Given the description of an element on the screen output the (x, y) to click on. 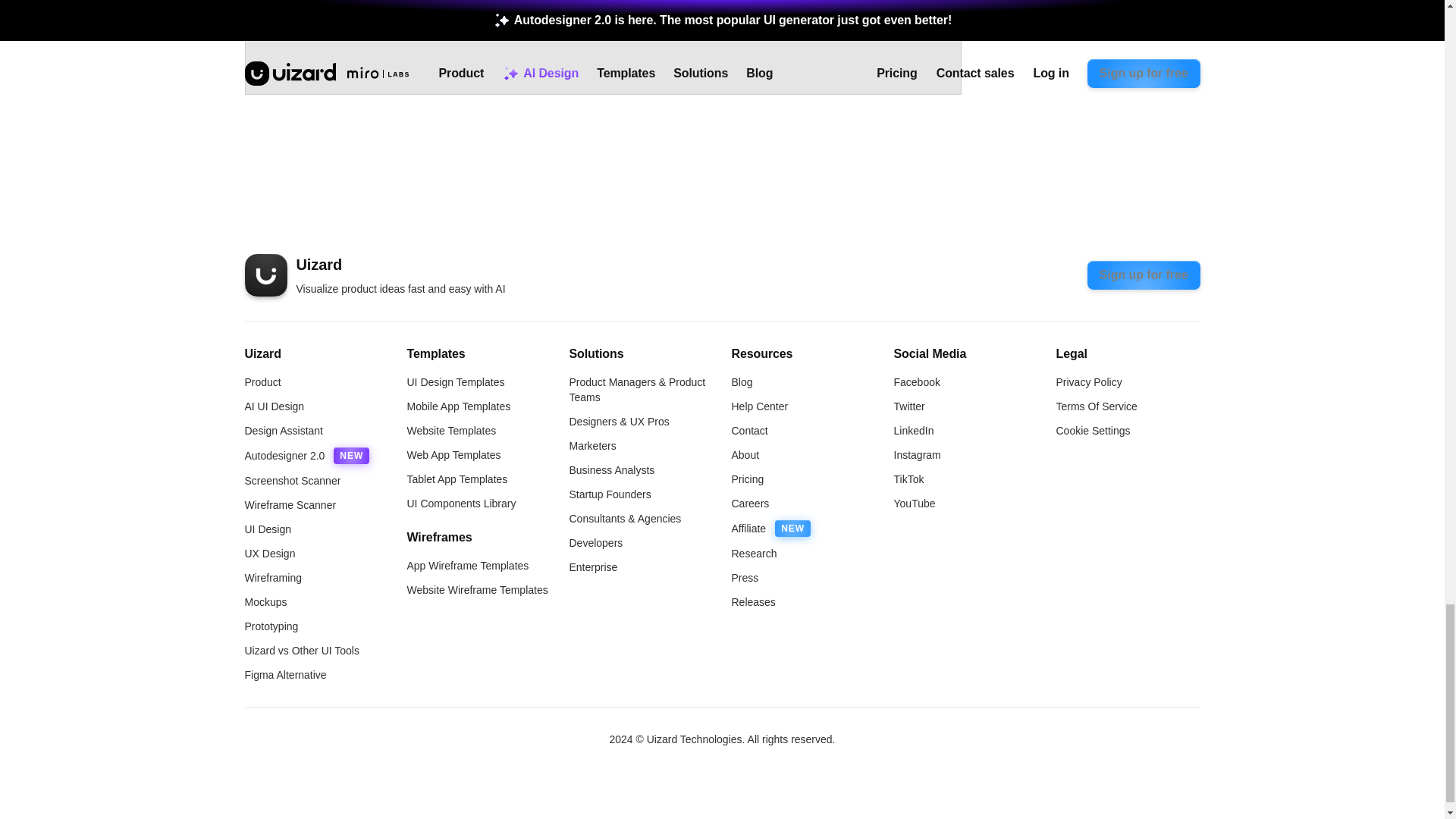
NFT marketplace app UI design (602, 47)
